Given the description of an element on the screen output the (x, y) to click on. 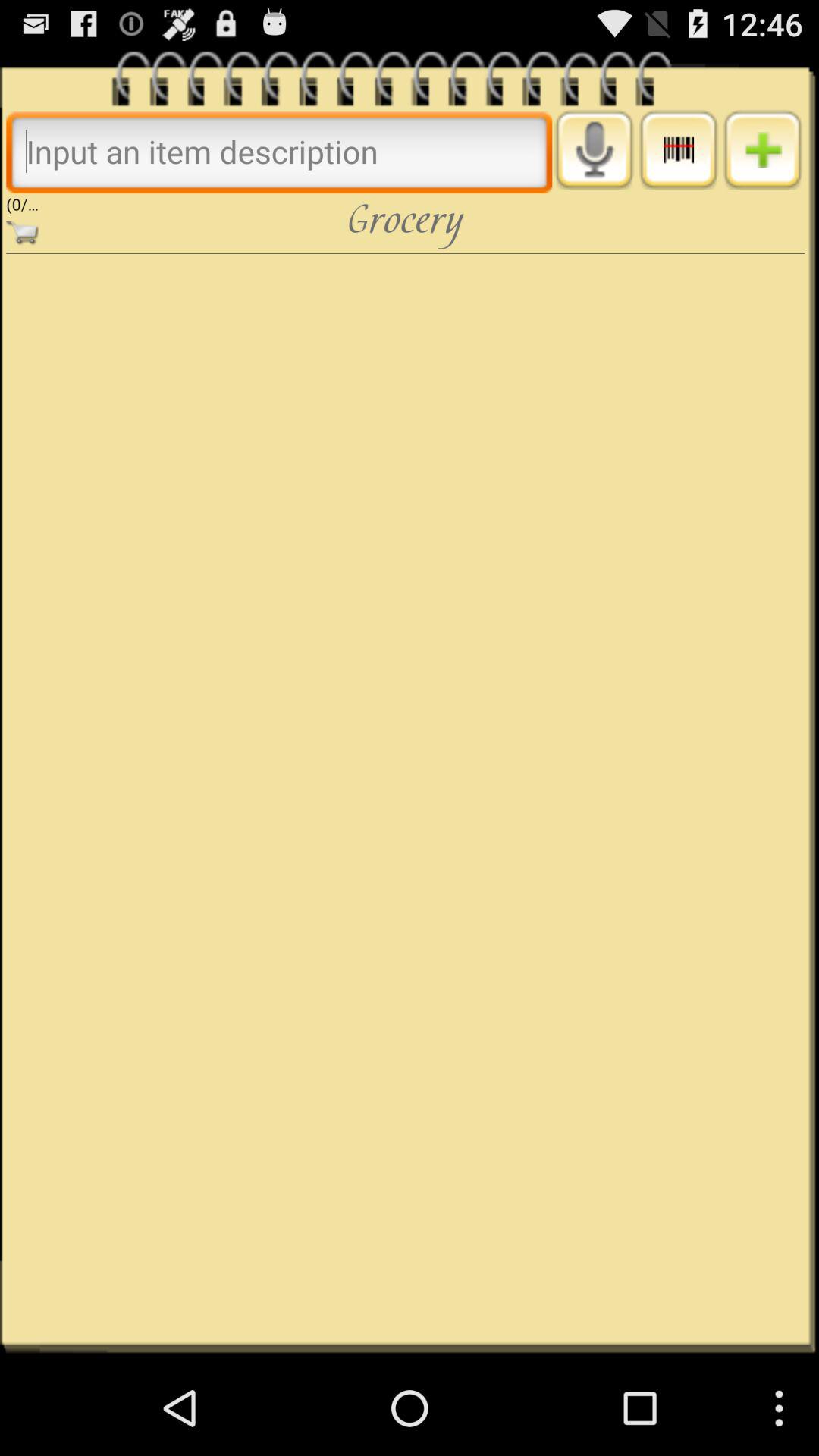
more (678, 149)
